Given the description of an element on the screen output the (x, y) to click on. 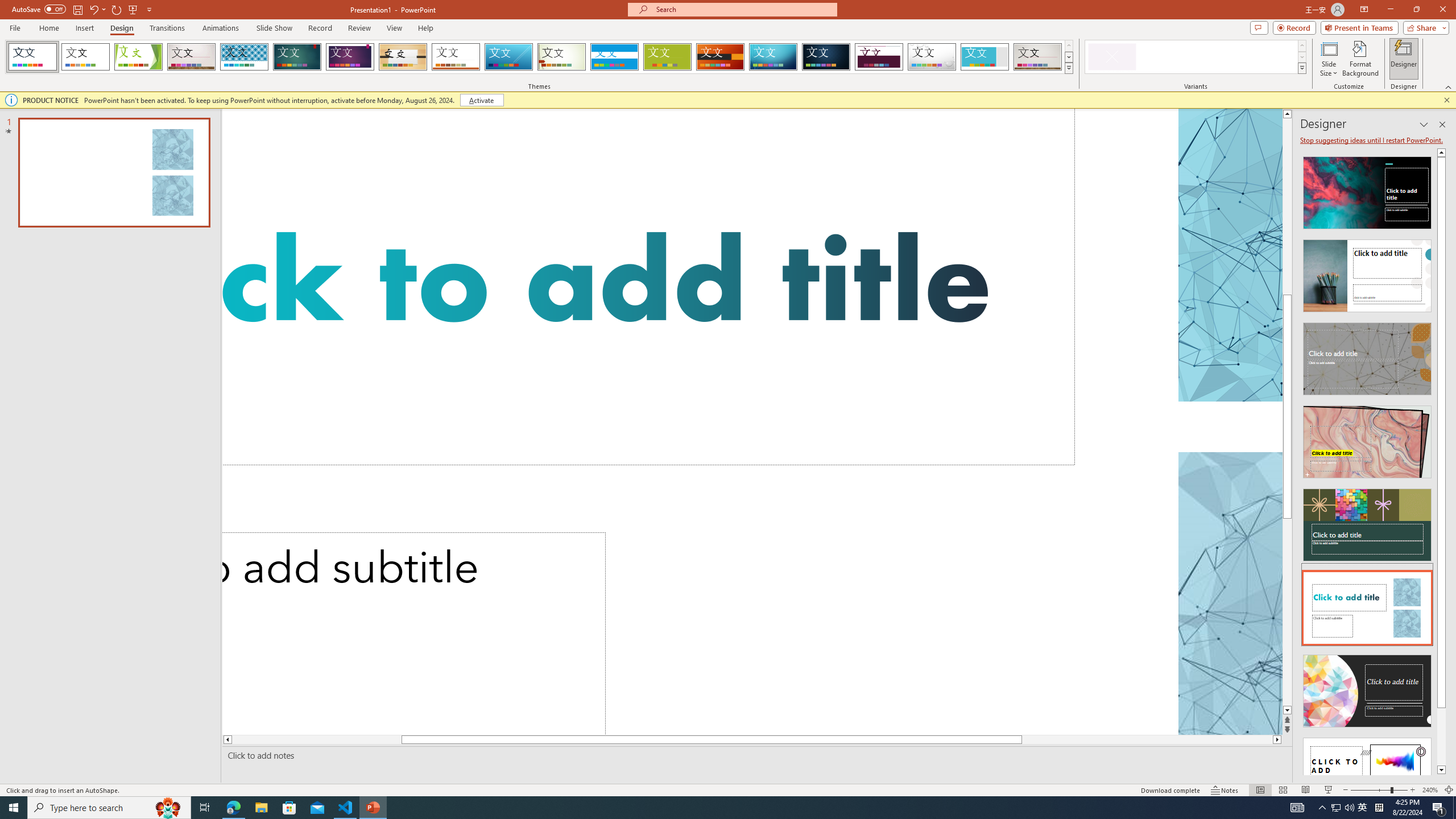
Download complete  (1171, 790)
Retrospect (455, 56)
Ion (296, 56)
Themes (1068, 67)
Organic (403, 56)
